Given the description of an element on the screen output the (x, y) to click on. 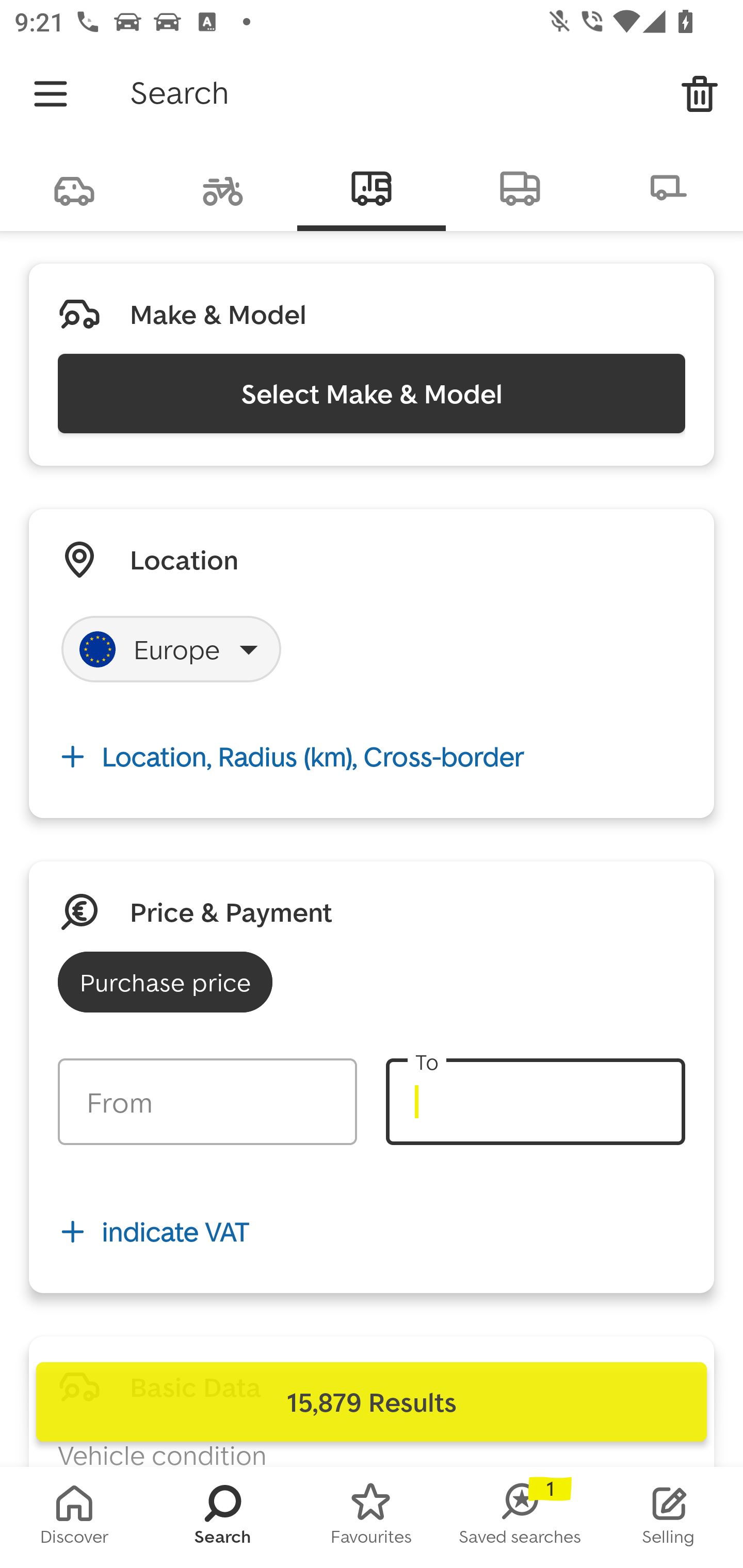
Navigate up (50, 93)
New search (699, 93)
CAR_SEARCH (74, 187)
BIKE_SEARCH (222, 187)
TRUCKS_SEARCH (519, 187)
TRAILERS_SEARCH (668, 187)
Make & Model (218, 314)
Select Make & Model (371, 393)
Location (184, 559)
Europe (170, 648)
Location, Radius (km), Cross-border (371, 756)
Price & Payment (231, 911)
Purchase price (164, 981)
From (207, 1101)
To (535, 1101)
indicate VAT (371, 1231)
15,879 Results (371, 1401)
HOMESCREEN Discover (74, 1517)
SEARCH Search (222, 1517)
FAVORITES Favourites (371, 1517)
SAVED_SEARCHES Saved searches 1 (519, 1517)
STOCK_LIST Selling (668, 1517)
